Given the description of an element on the screen output the (x, y) to click on. 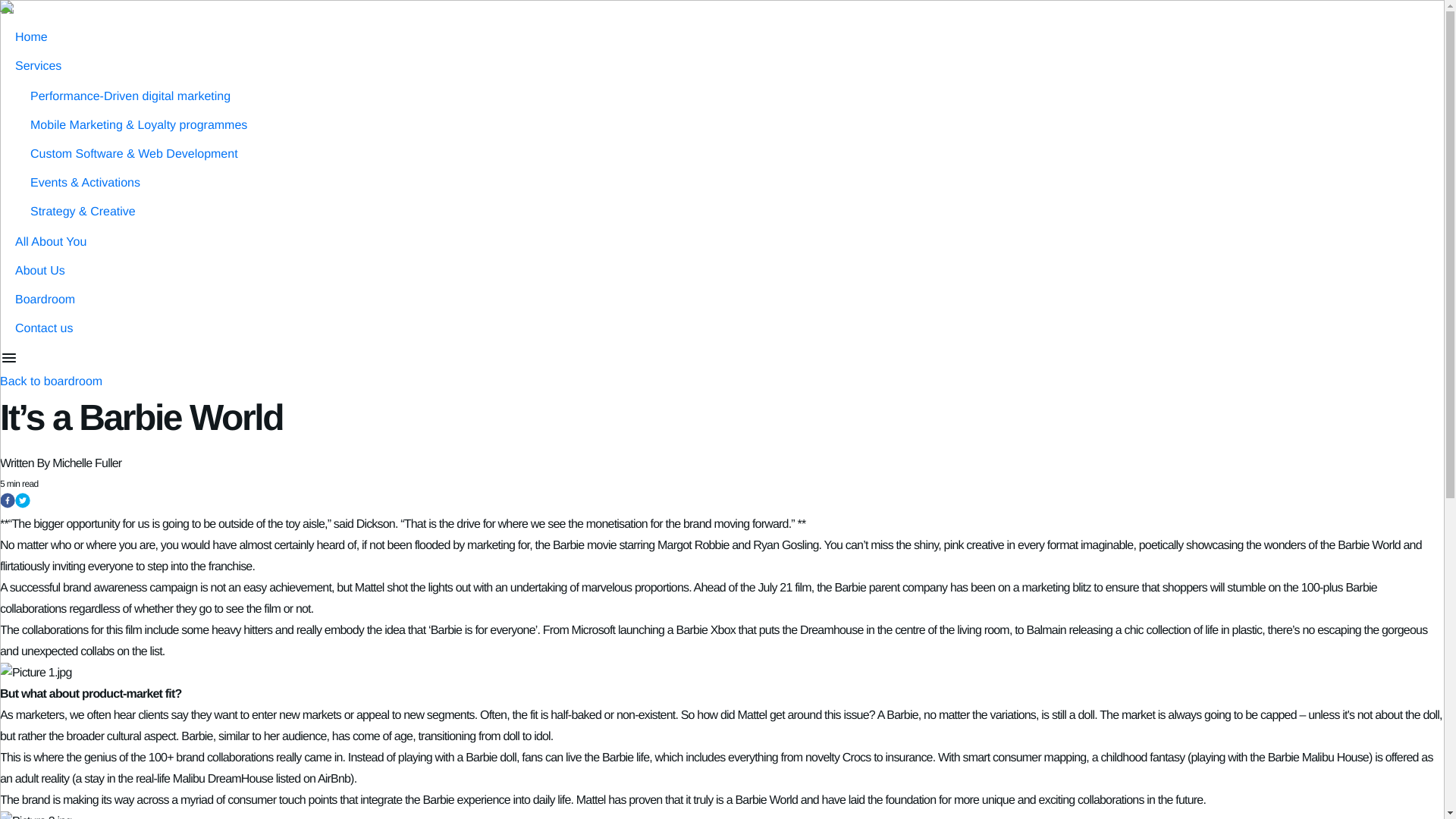
Boardroom (44, 299)
Contact us (43, 328)
Services (37, 65)
All About You (49, 241)
Home (31, 37)
Back to boardroom (50, 381)
Performance-Driven digital marketing (130, 96)
About Us (39, 270)
